Given the description of an element on the screen output the (x, y) to click on. 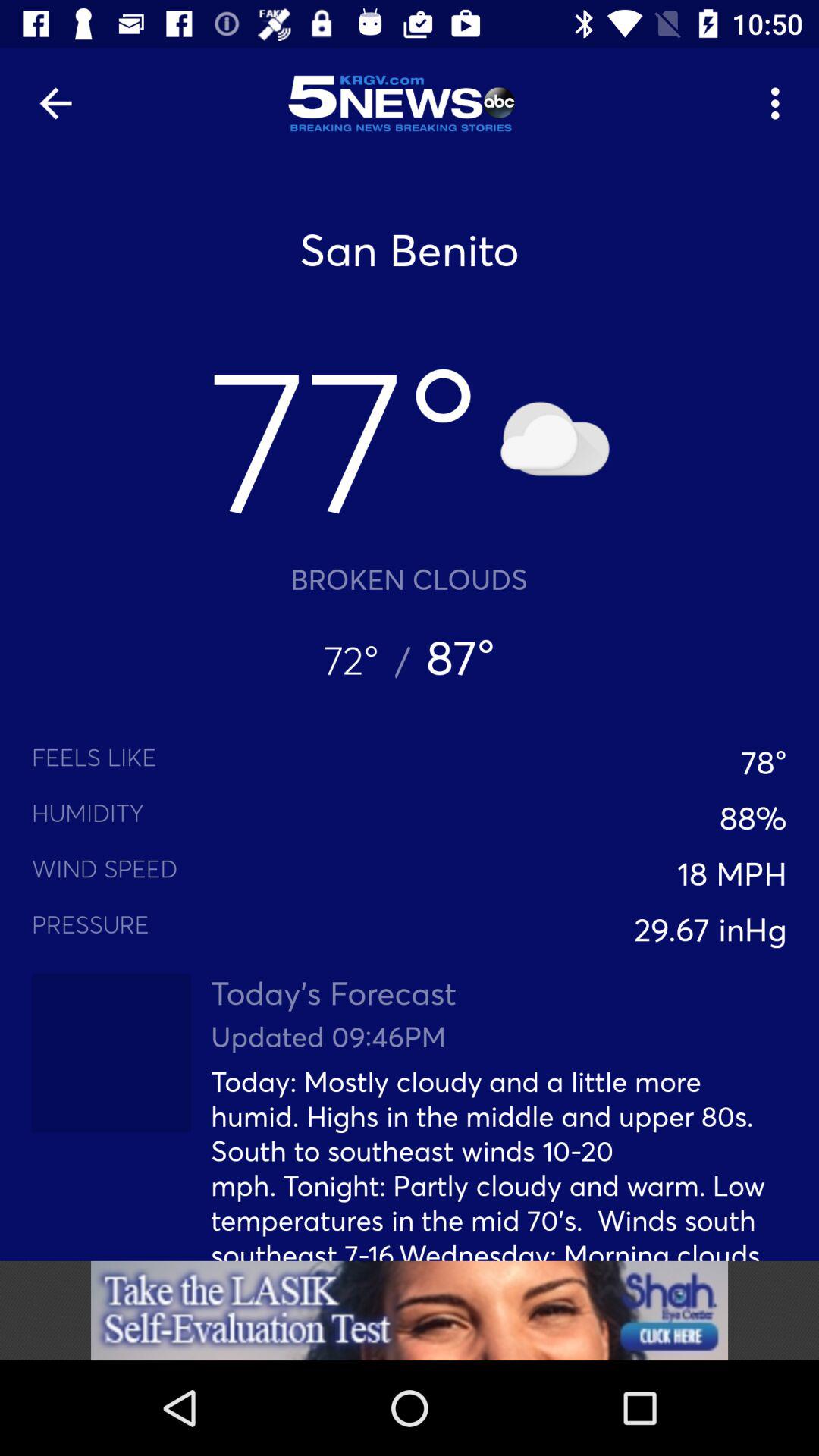
advertisement (409, 1310)
